Given the description of an element on the screen output the (x, y) to click on. 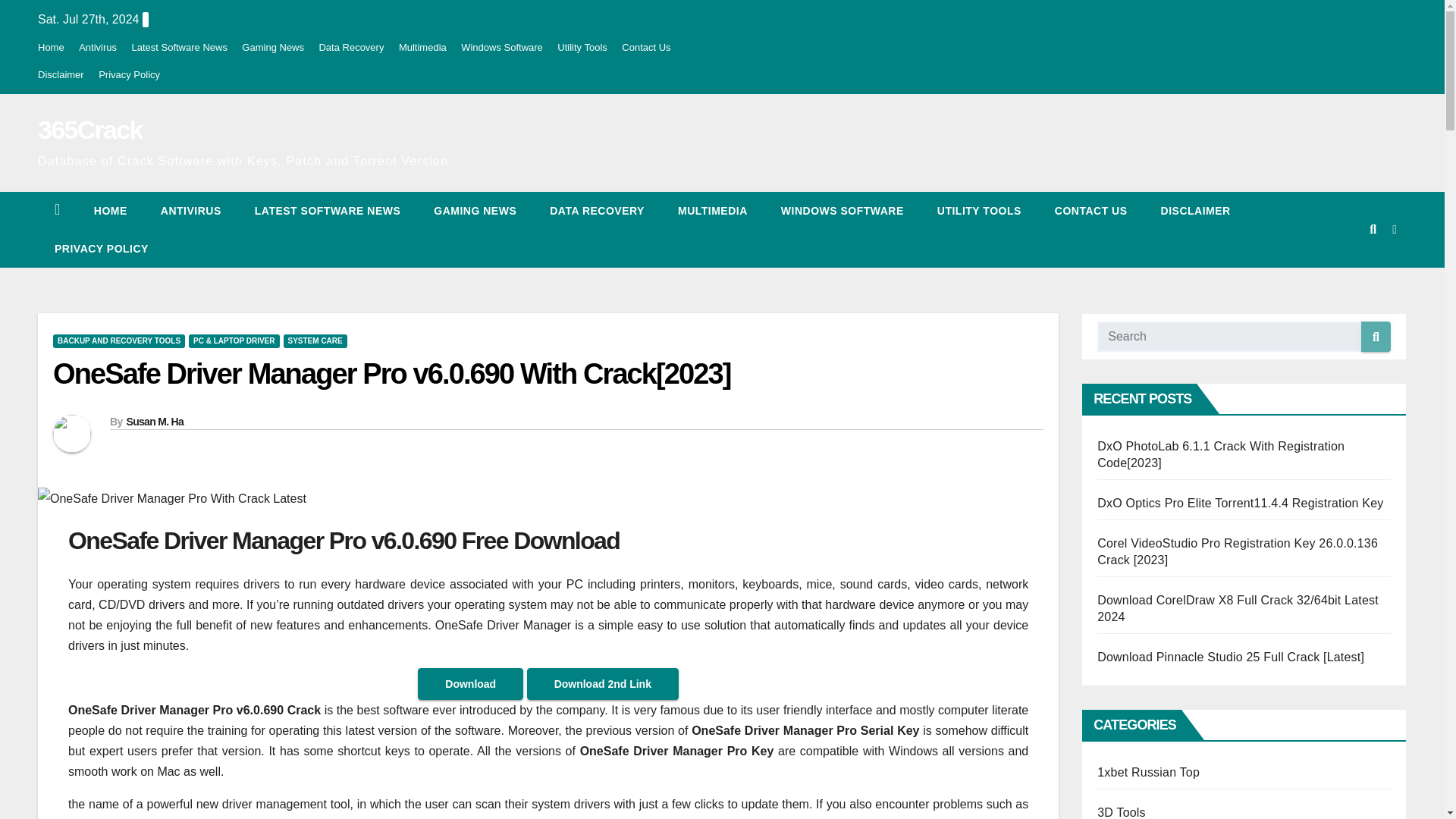
PRIVACY POLICY (101, 248)
Download (469, 684)
Utility Tools (979, 210)
Contact Us (1091, 210)
UTILITY TOOLS (979, 210)
GAMING NEWS (474, 210)
Disclaimer (60, 74)
Multimedia (712, 210)
Latest Software News (179, 47)
Gaming News (474, 210)
MULTIMEDIA (712, 210)
DISCLAIMER (1195, 210)
Privacy Policy (101, 248)
Contact Us (645, 47)
SYSTEM CARE (315, 341)
